Given the description of an element on the screen output the (x, y) to click on. 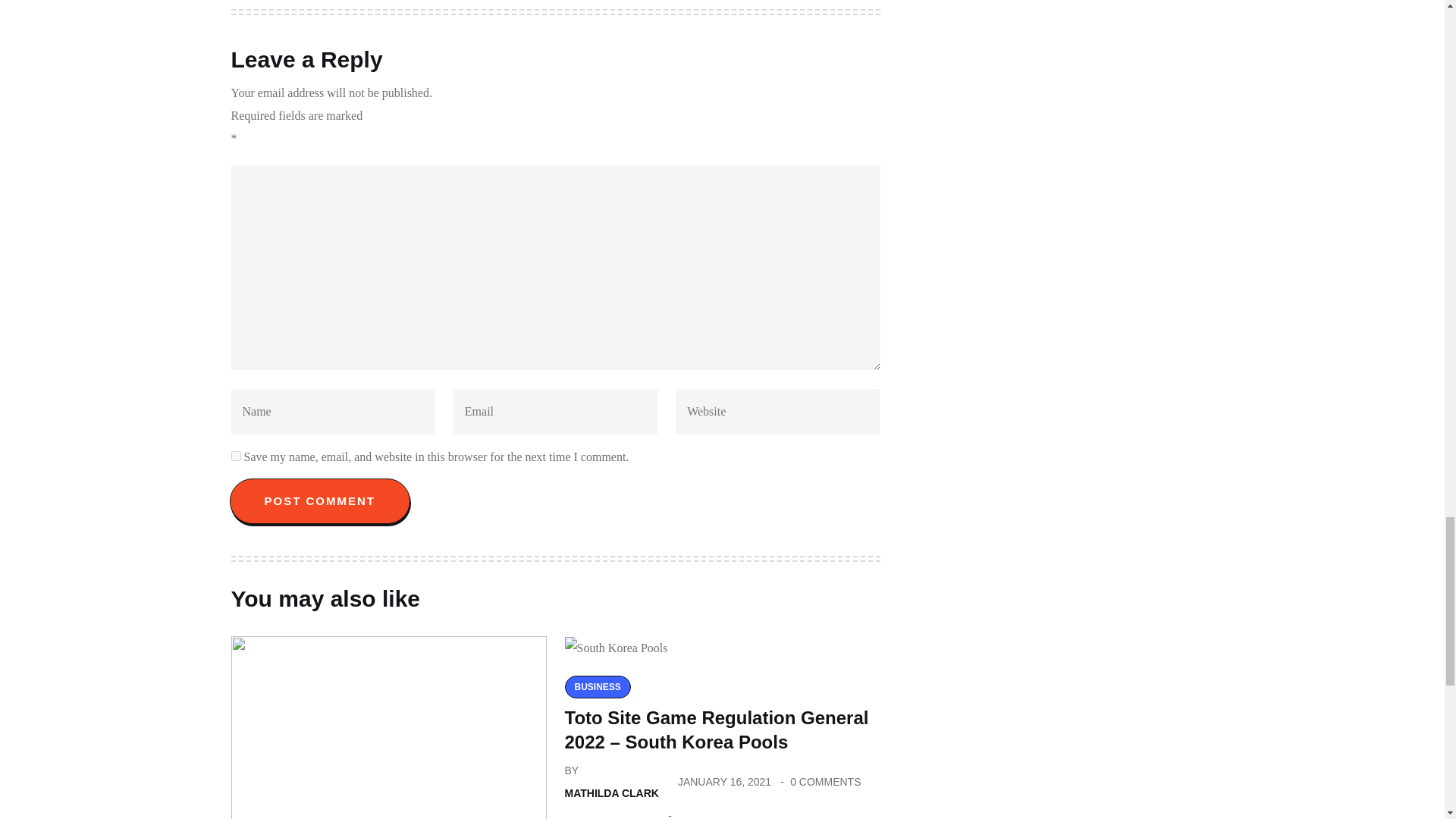
Posts by Mathilda Clark (611, 793)
Post Comment (319, 501)
yes (235, 456)
